Given the description of an element on the screen output the (x, y) to click on. 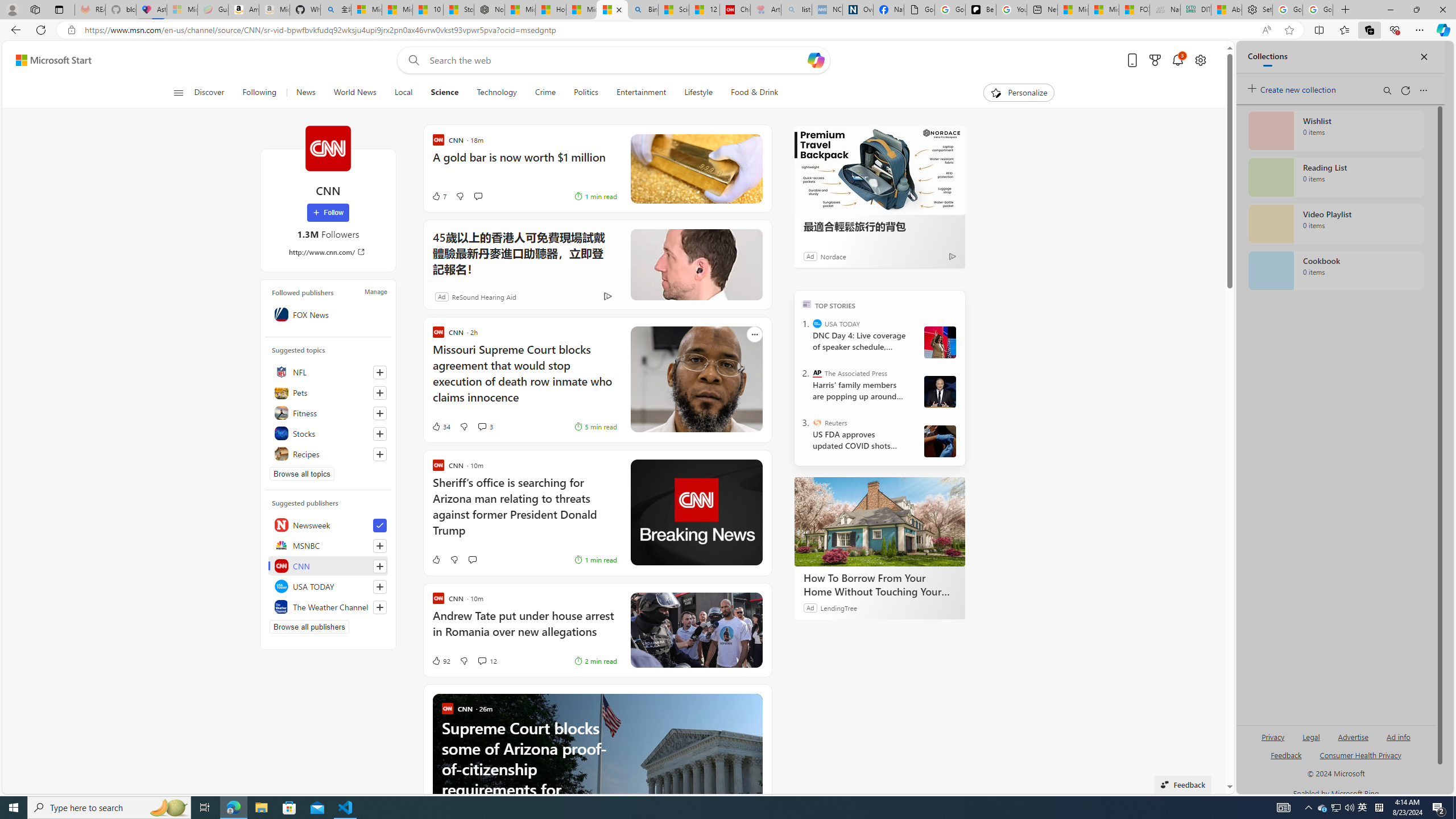
USA TODAY (816, 323)
Enter your search term (617, 59)
Arthritis: Ask Health Professionals - Sleeping (765, 9)
7 Like (425, 196)
Stocks (327, 433)
